Given the description of an element on the screen output the (x, y) to click on. 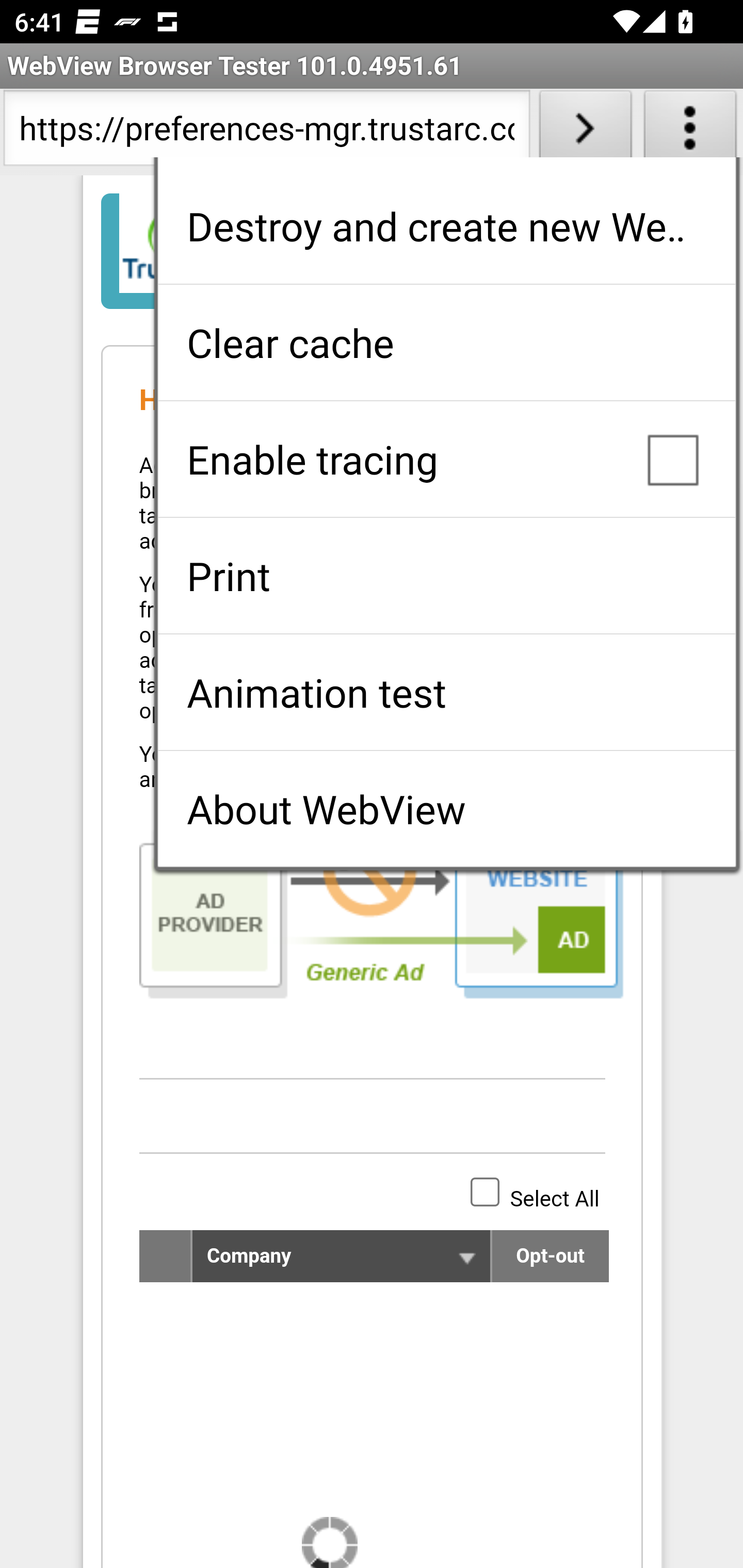
Destroy and create new WebView (446, 225)
Clear cache (446, 342)
Enable tracing (446, 459)
Print (446, 575)
Animation test (446, 692)
About WebView (446, 809)
